Given the description of an element on the screen output the (x, y) to click on. 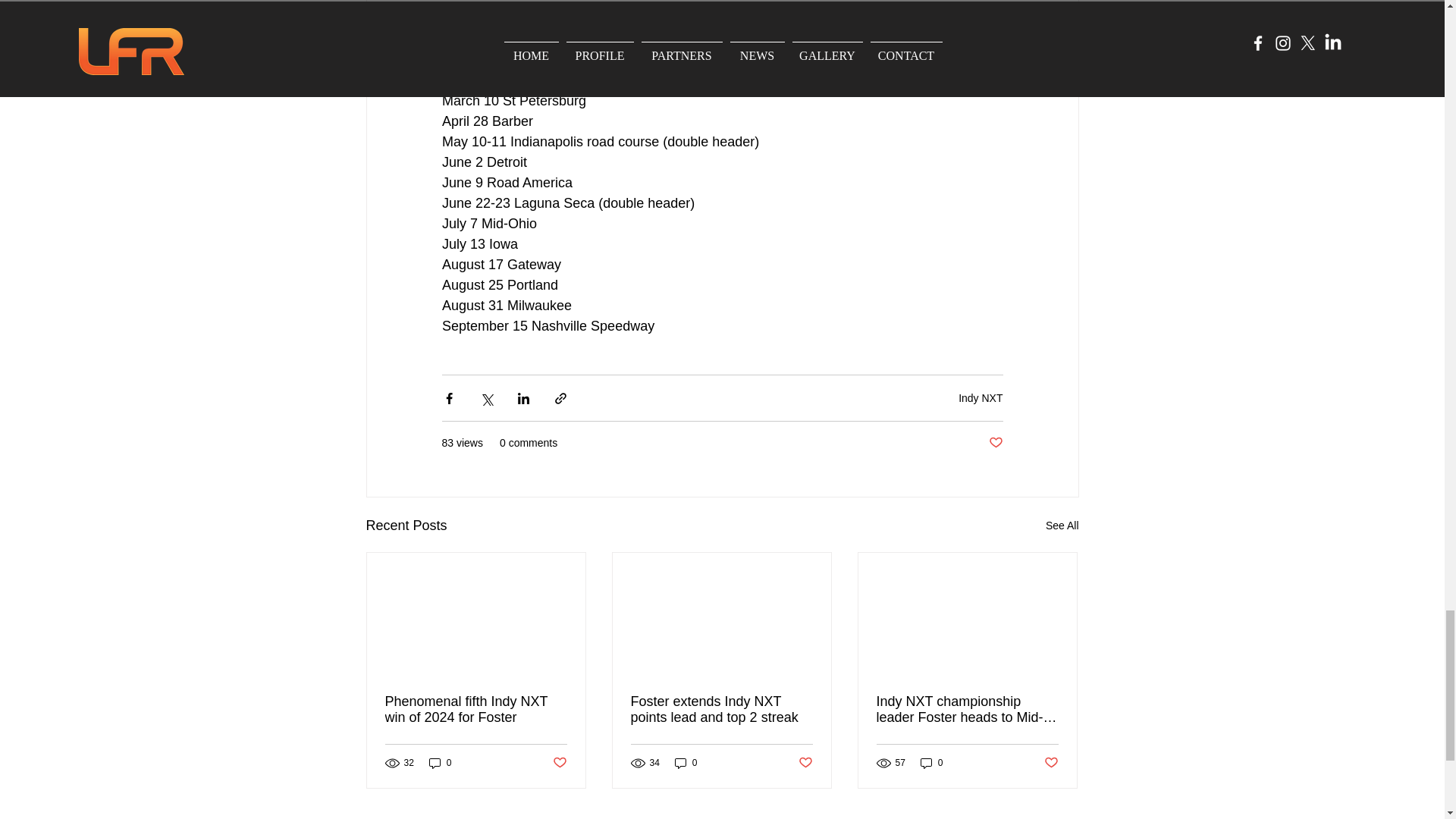
Indy NXT (980, 398)
0 (931, 762)
Post not marked as liked (995, 442)
See All (1061, 526)
Phenomenal fifth Indy NXT win of 2024 for Foster (476, 709)
Post not marked as liked (804, 763)
0 (685, 762)
0 (440, 762)
Foster extends Indy NXT points lead and top 2 streak (721, 709)
Post not marked as liked (1050, 763)
Post not marked as liked (558, 763)
Indy NXT championship leader Foster heads to Mid-Ohio (967, 709)
